Given the description of an element on the screen output the (x, y) to click on. 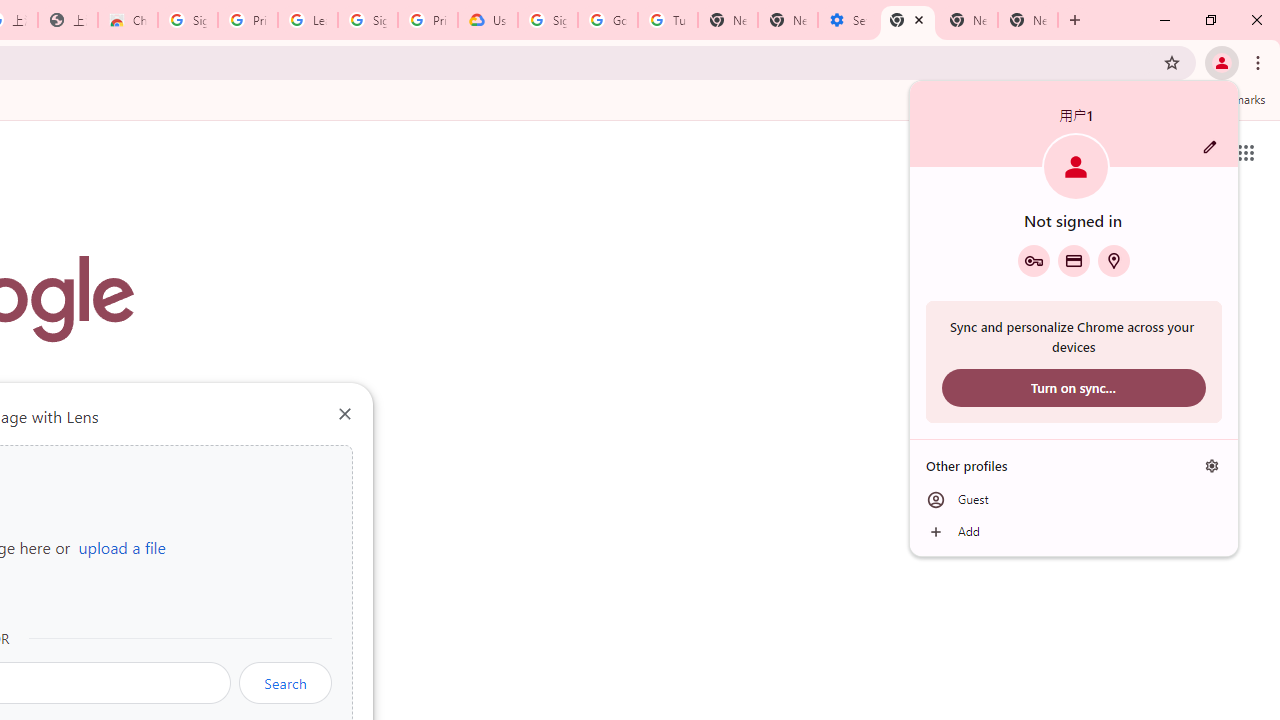
Sign in - Google Accounts (548, 20)
Google Account Help (607, 20)
Manage profiles (1211, 465)
Add (1073, 531)
Customize profile (1210, 147)
New Tab (1028, 20)
Sign in - Google Accounts (187, 20)
